Given the description of an element on the screen output the (x, y) to click on. 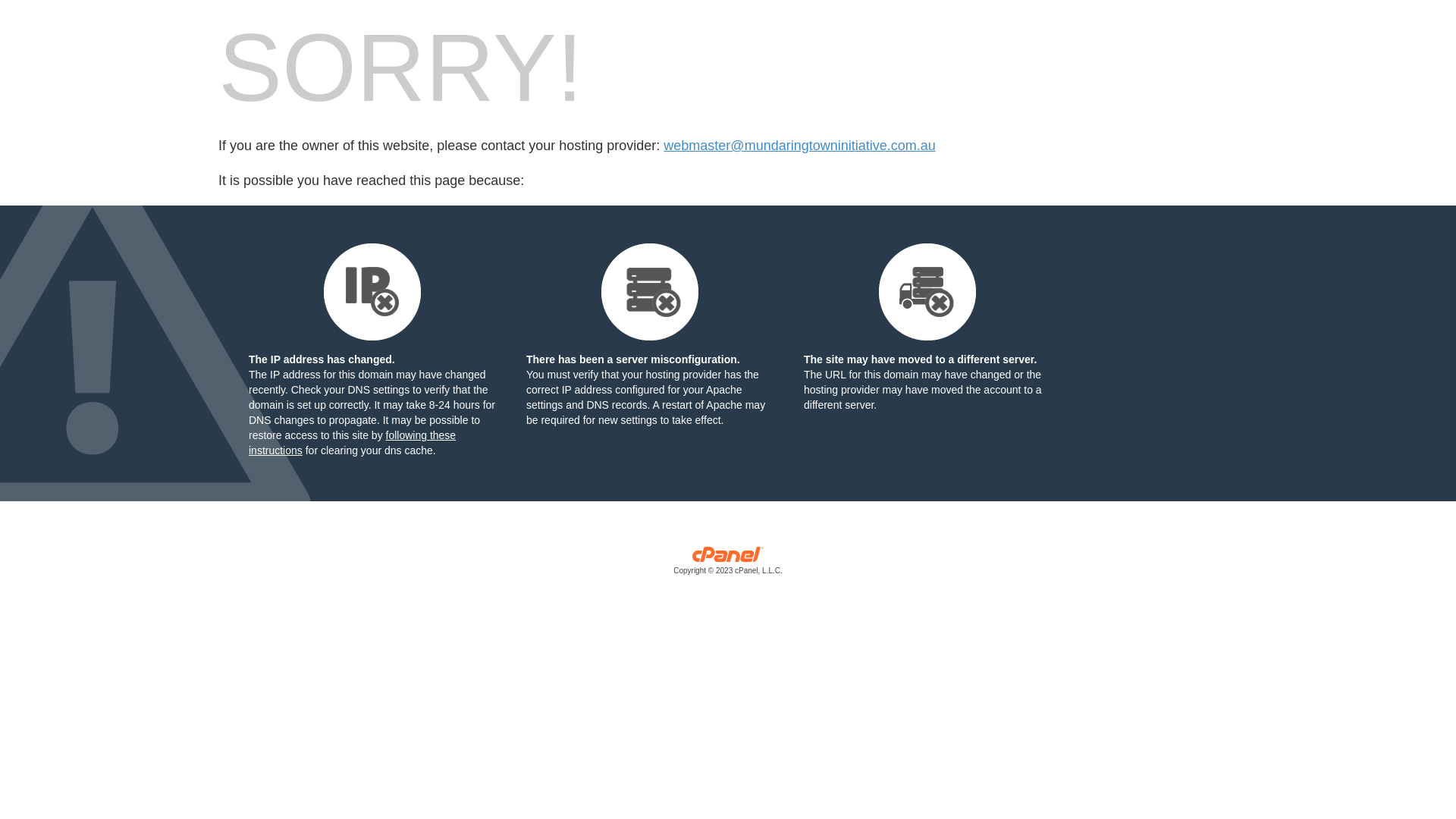
following these instructions Element type: text (351, 442)
webmaster@mundaringtowninitiative.com.au Element type: text (799, 145)
